Given the description of an element on the screen output the (x, y) to click on. 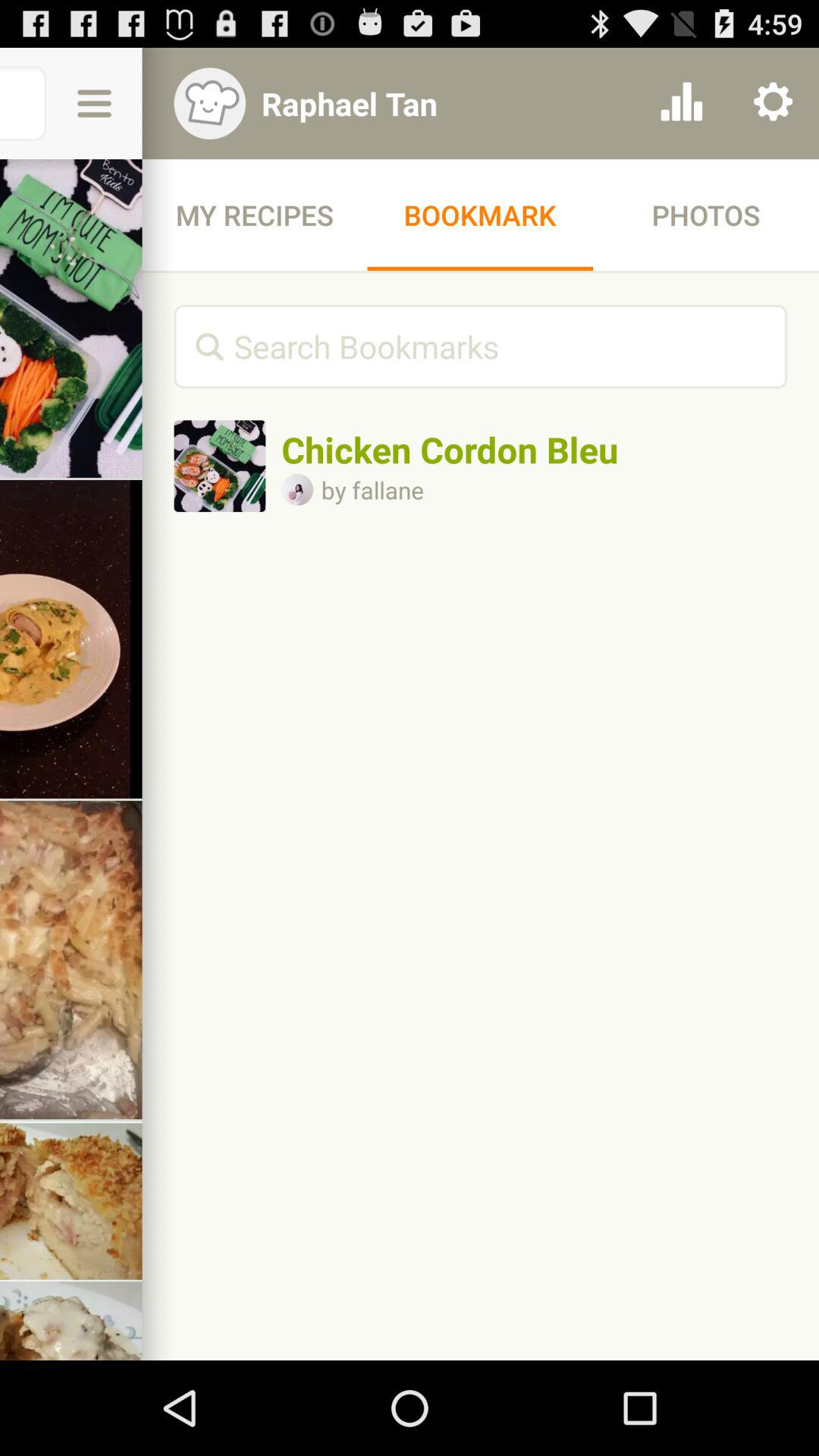
choose item next to the raphael tan (681, 103)
